Given the description of an element on the screen output the (x, y) to click on. 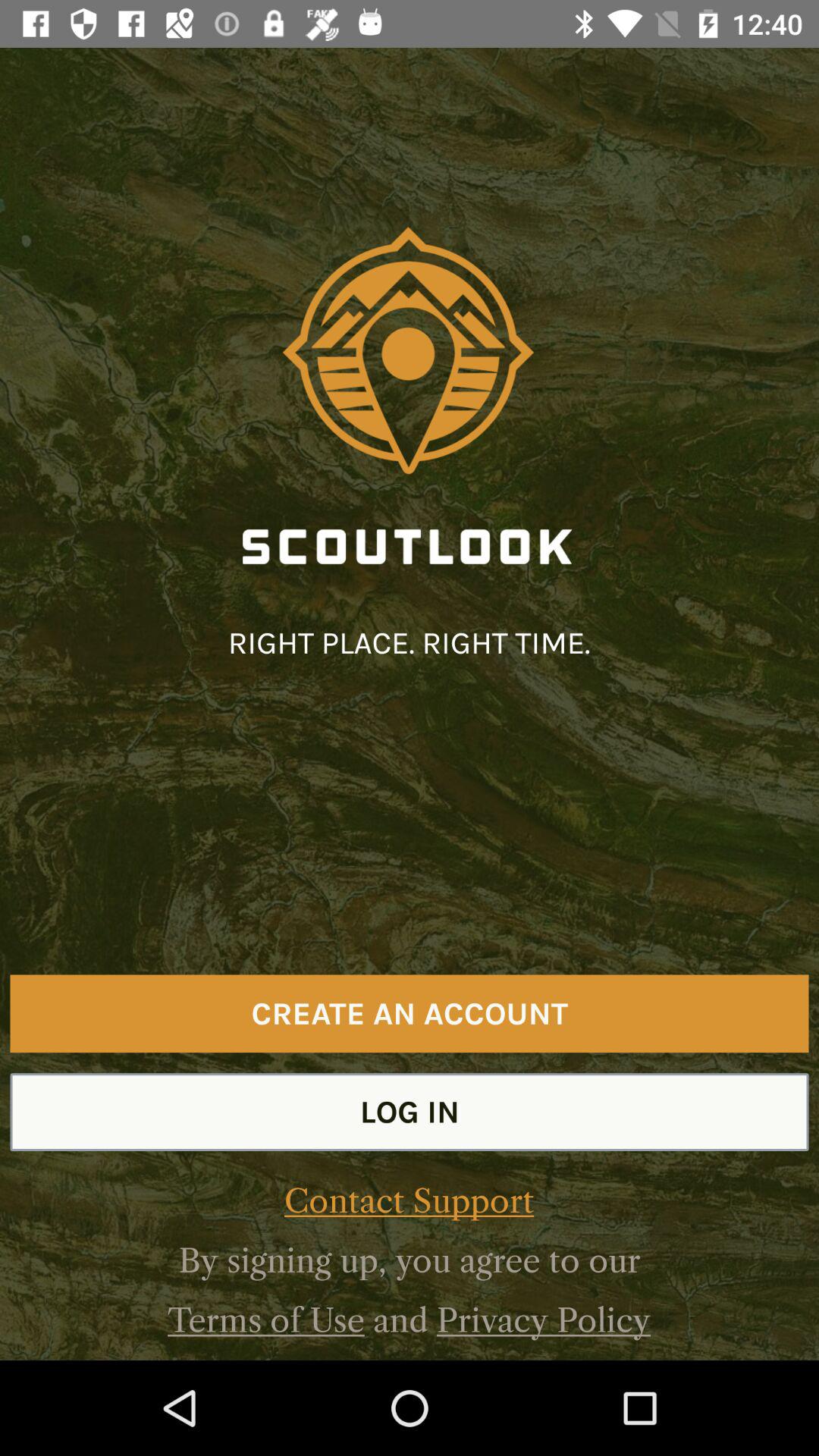
click the terms of use (265, 1320)
